Given the description of an element on the screen output the (x, y) to click on. 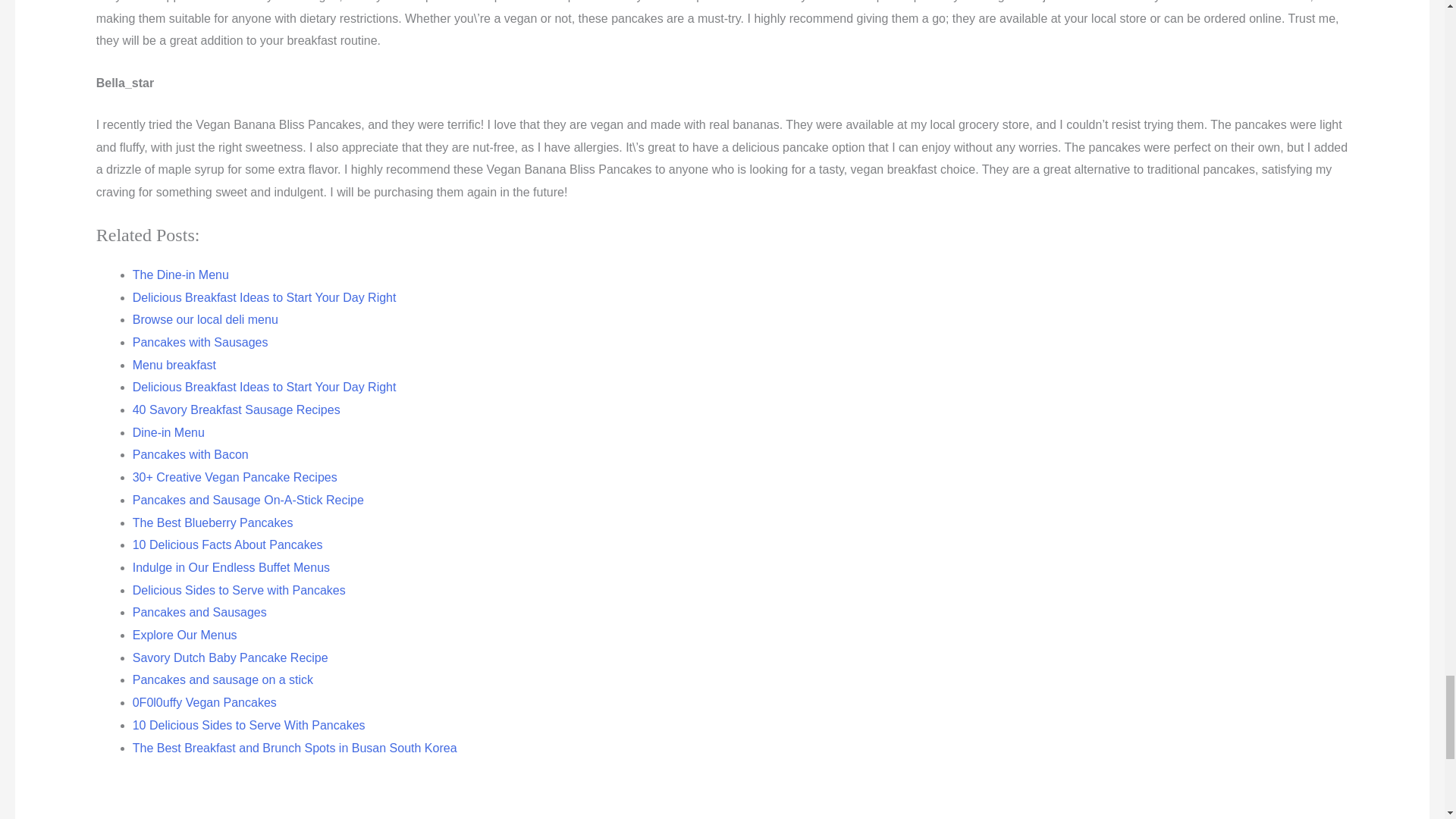
0F0l0uffy Vegan Pancakes (204, 702)
Delicious Sides to Serve with Pancakes (239, 590)
Pancakes with Sausages (199, 341)
10 Delicious Facts About Pancakes (227, 544)
40 Savory Breakfast Sausage Recipes (236, 409)
The Dine-in Menu (180, 274)
Dine-in Menu (168, 431)
Pancakes and Sausage On-A-Stick Recipe (248, 499)
Delicious Breakfast Ideas to Start Your Day Right (264, 386)
Delicious Breakfast Ideas to Start Your Day Right (264, 297)
